Given the description of an element on the screen output the (x, y) to click on. 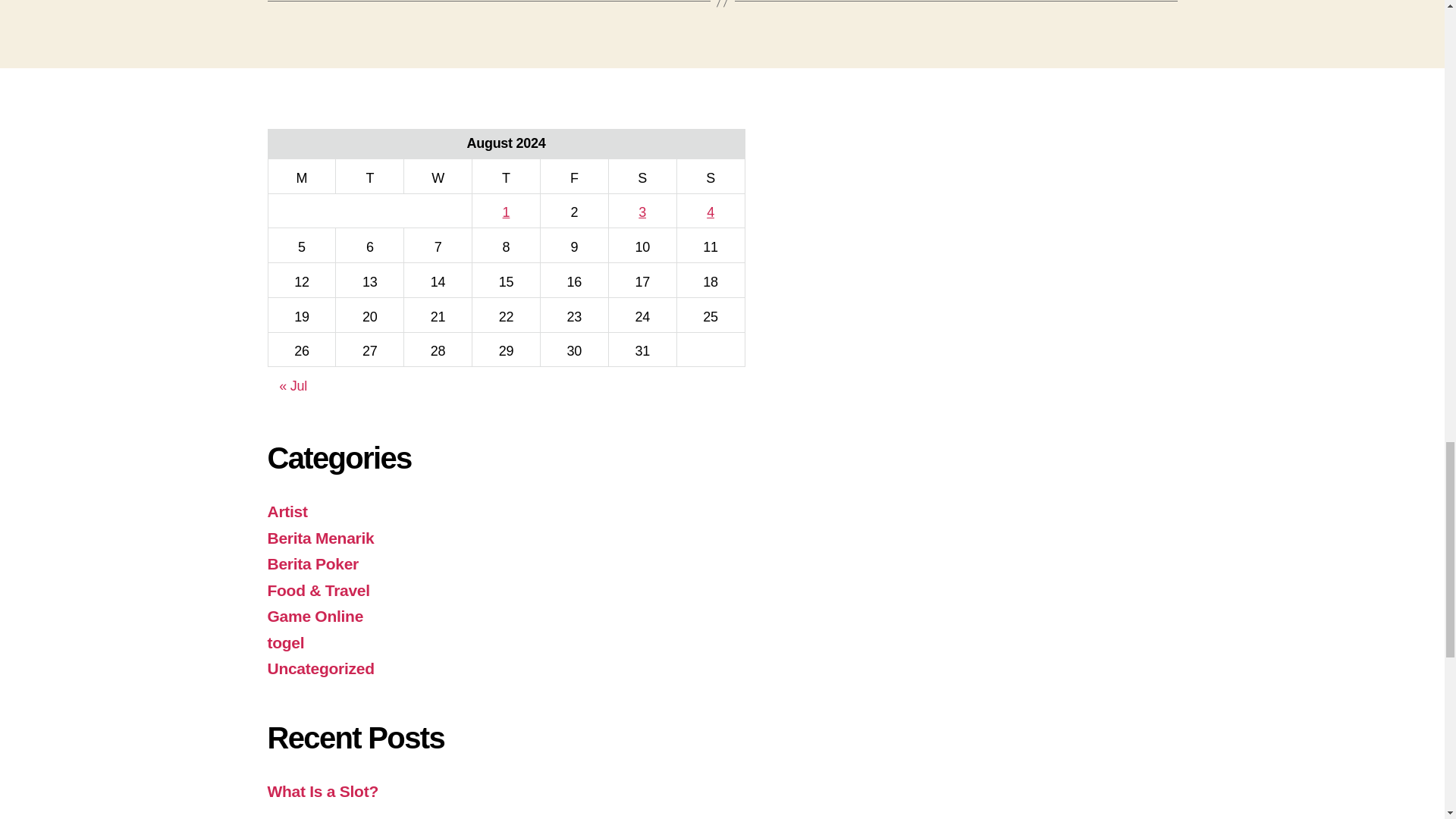
Tuesday (370, 176)
Thursday (505, 176)
togel (285, 642)
Saturday (642, 176)
Wednesday (437, 176)
Berita Menarik (320, 538)
Sunday (710, 176)
Uncategorized (320, 668)
Monday (301, 176)
Artist (286, 511)
Friday (574, 176)
Berita Poker (312, 563)
Game Online (314, 615)
